Given the description of an element on the screen output the (x, y) to click on. 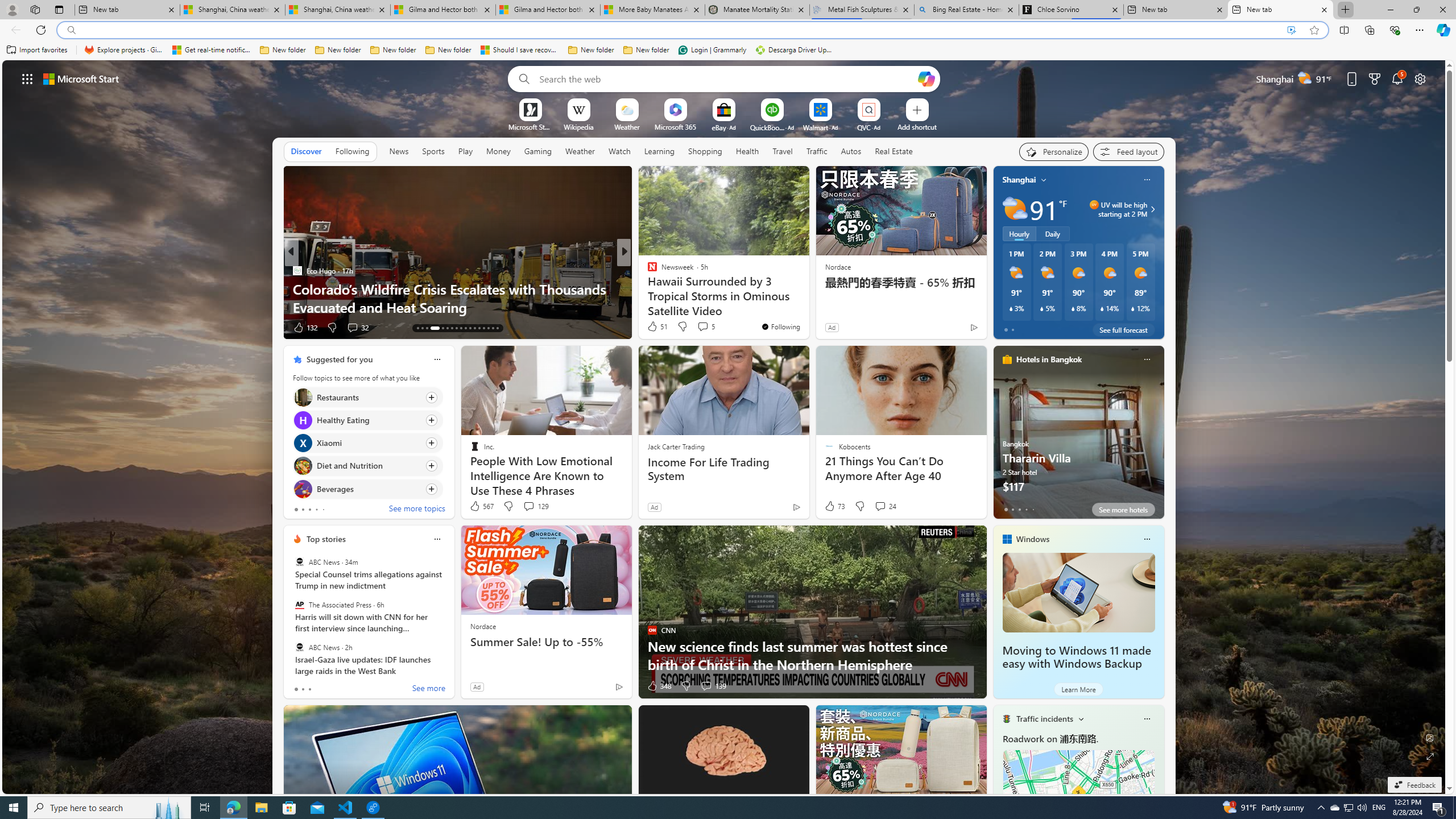
Traffic (816, 151)
Microsoft Start Gaming (529, 126)
Gaming (537, 151)
AutomationID: tab-31 (488, 328)
AutomationID: tab-24 (456, 328)
Import favorites (36, 49)
View comments 3 Comment (698, 327)
Personalize your feed" (1054, 151)
